Given the description of an element on the screen output the (x, y) to click on. 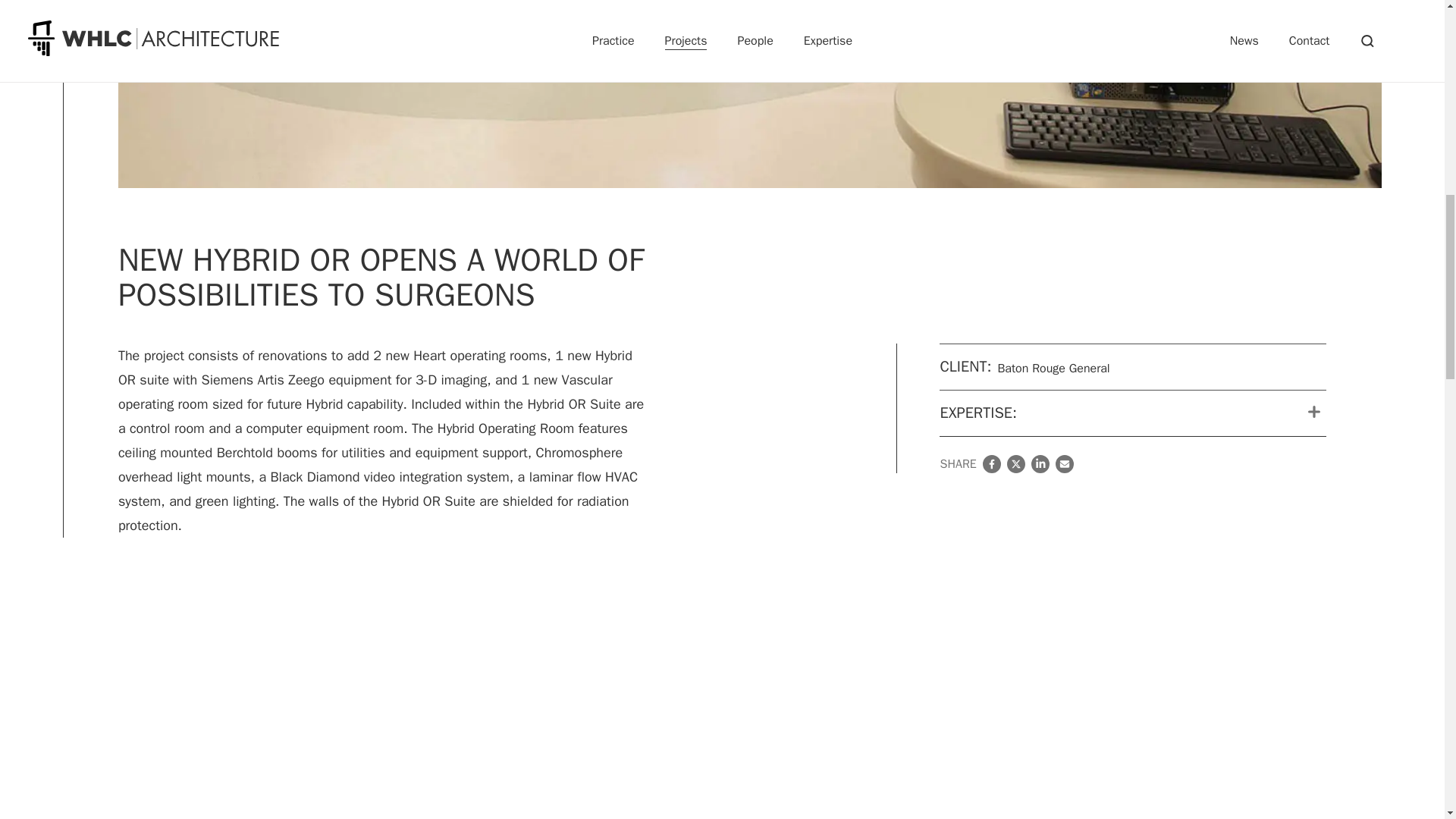
Planning (58, 140)
Baton Rouge General (58, 28)
Healthcare (62, 126)
